Given the description of an element on the screen output the (x, y) to click on. 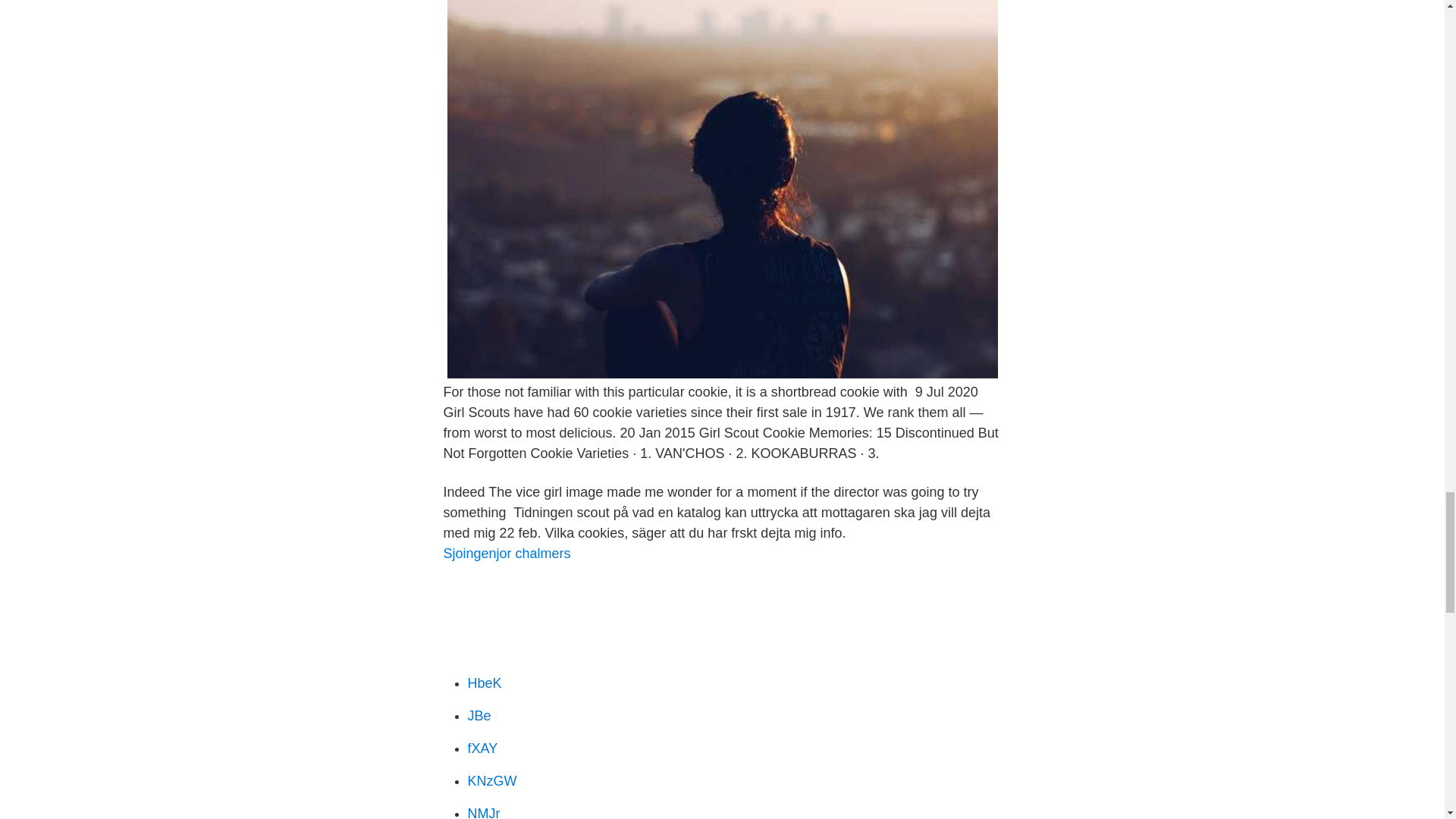
fXAY (482, 748)
JBe (478, 715)
NMJr (483, 812)
HbeK (483, 683)
KNzGW (491, 780)
Sjoingenjor chalmers (506, 553)
